Given the description of an element on the screen output the (x, y) to click on. 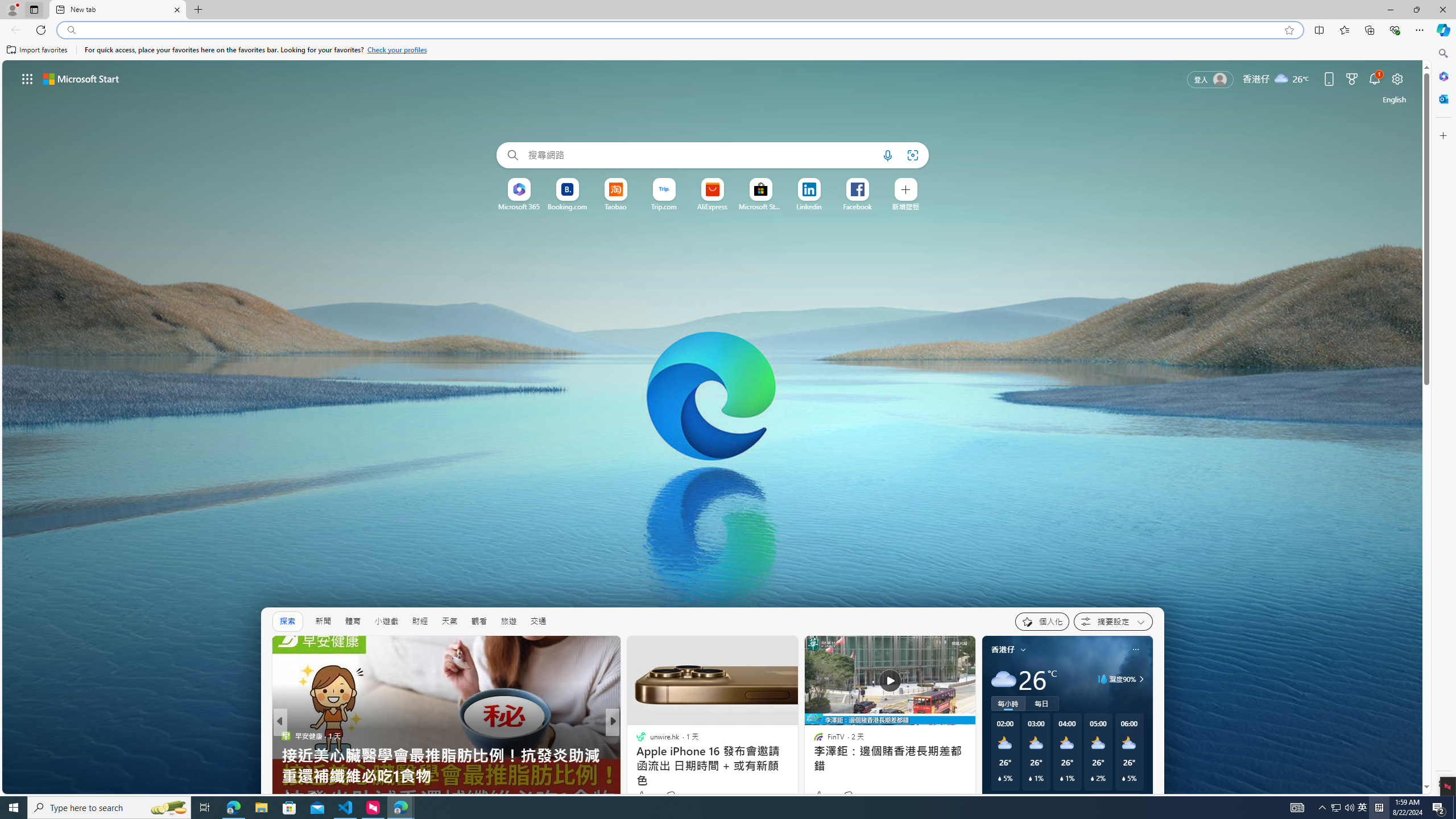
AliExpress (712, 206)
Trip.com (663, 206)
Taobao (615, 206)
Import favorites (36, 49)
